Given the description of an element on the screen output the (x, y) to click on. 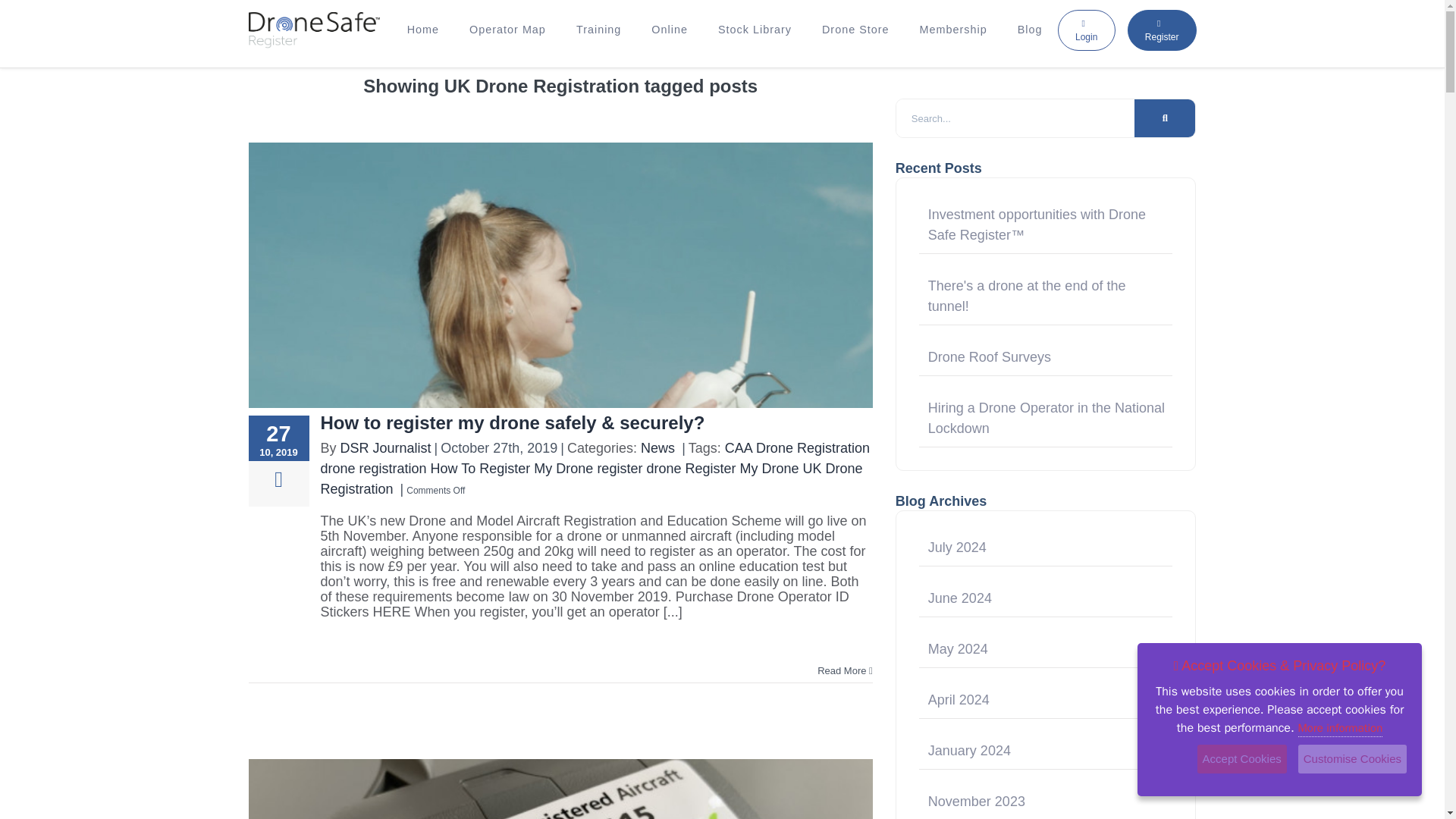
register drone (638, 468)
News (657, 447)
CAA Drone Registration (797, 447)
Hiring a Drone Operator in the National Lockdown (1046, 425)
Stock Library (754, 29)
Membership (953, 29)
Drone Roof Surveys (989, 364)
DSR Journalist (385, 447)
Online (669, 29)
Read More (844, 670)
Login (1086, 29)
Training (598, 29)
Blog (1030, 29)
There's a drone at the end of the tunnel! (1026, 303)
How To Register My Drone (512, 468)
